Given the description of an element on the screen output the (x, y) to click on. 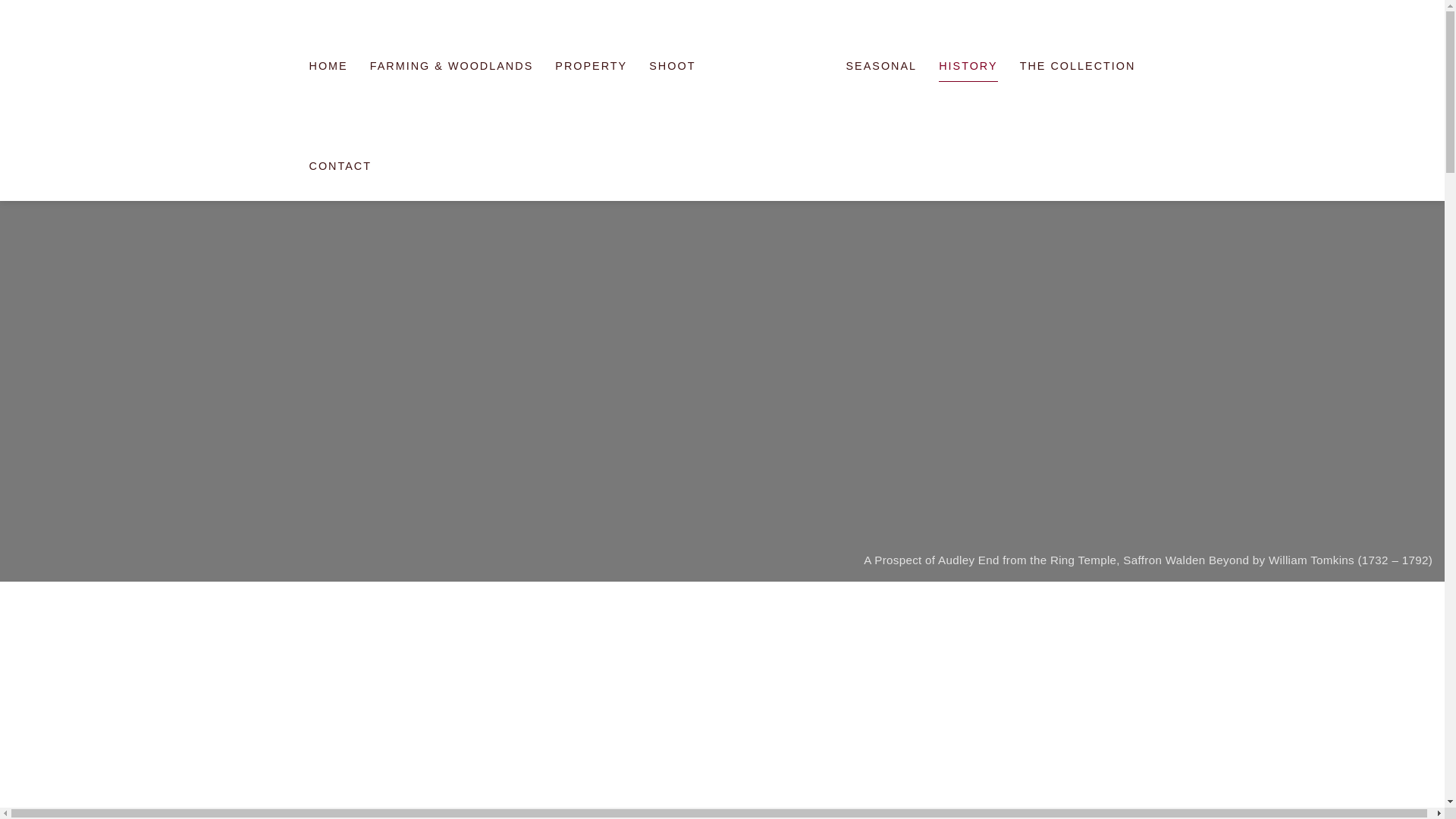
PROPERTY (590, 65)
THE COLLECTION (1077, 65)
SEASONAL (881, 65)
CONTACT (339, 165)
